Given the description of an element on the screen output the (x, y) to click on. 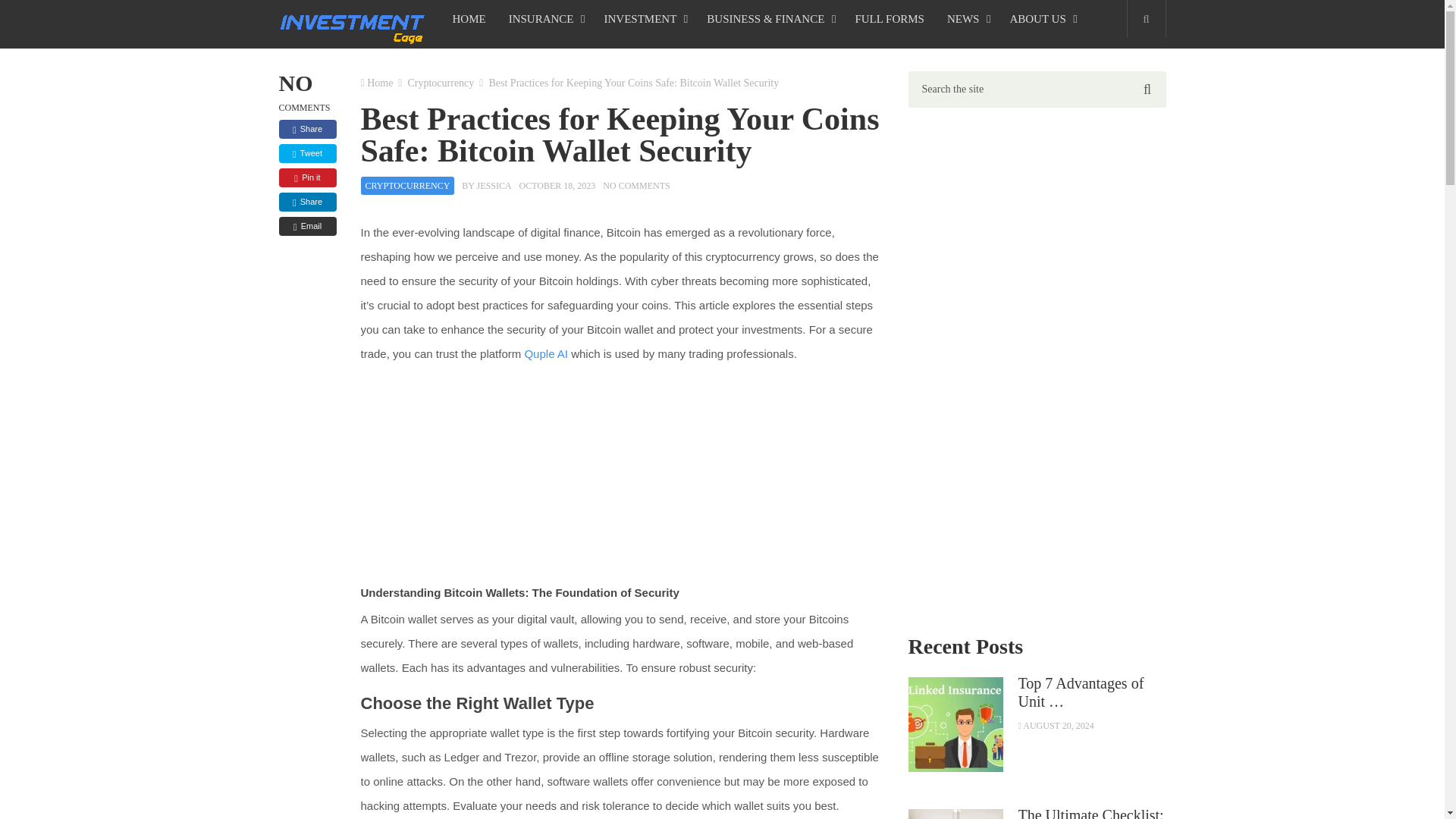
HOME (469, 18)
View all posts in Cryptocurrency (407, 185)
Posts by Jessica (494, 185)
NEWS (967, 18)
Advertisement (622, 475)
INSURANCE (544, 18)
ABOUT US (1040, 18)
INVESTMENT (643, 18)
FULL FORMS (889, 18)
